Given the description of an element on the screen output the (x, y) to click on. 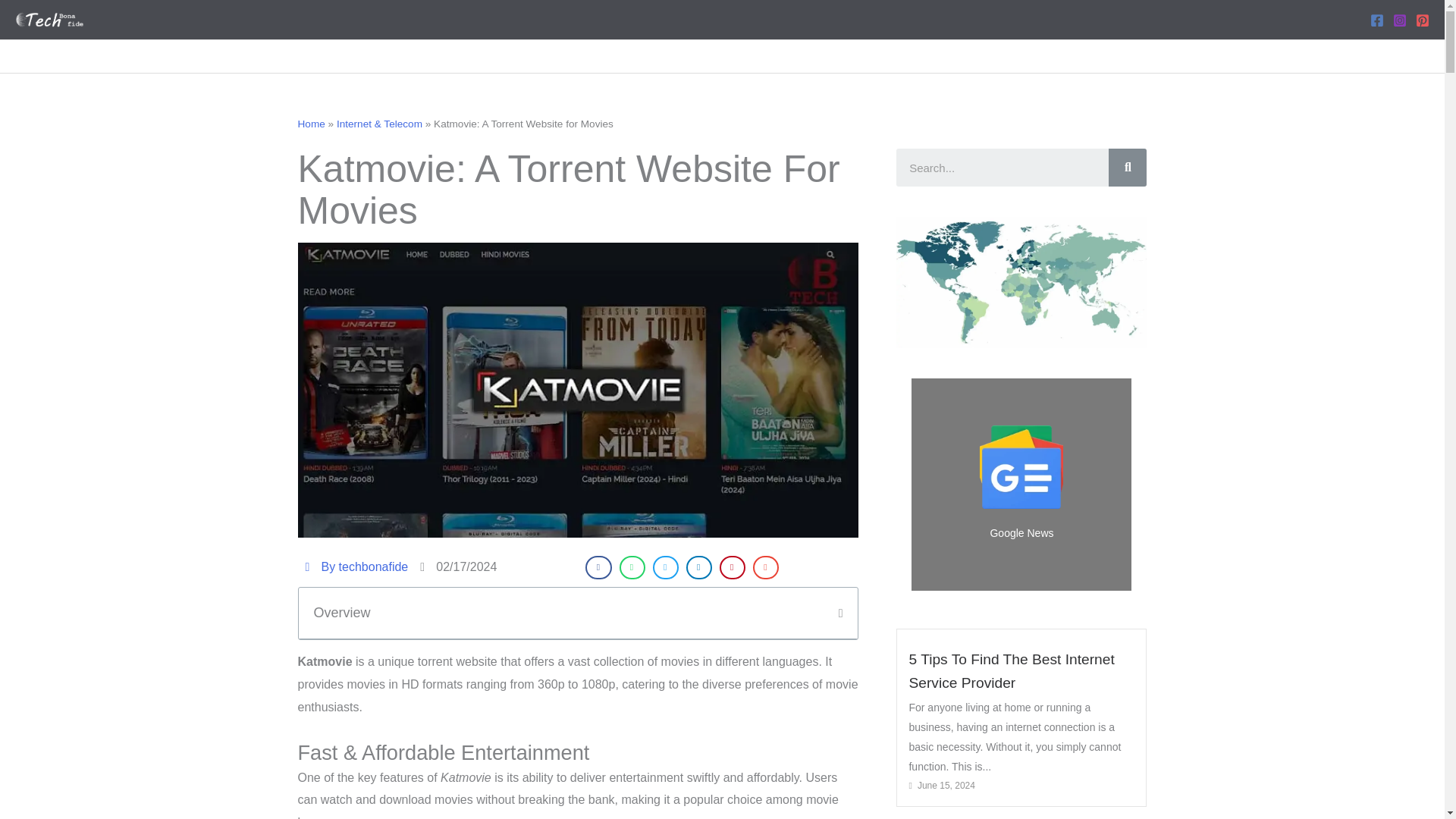
Apps (791, 56)
Business (513, 56)
Home (310, 123)
By techbonafide (355, 567)
5 Tips to Find the Best Internet Service Provider (1010, 671)
Gadgets (918, 56)
Search (1127, 167)
Artificial Intelligence (583, 56)
Information Technology (722, 56)
Games (649, 56)
How to? (966, 56)
Tech (472, 56)
Search (1002, 167)
